Given the description of an element on the screen output the (x, y) to click on. 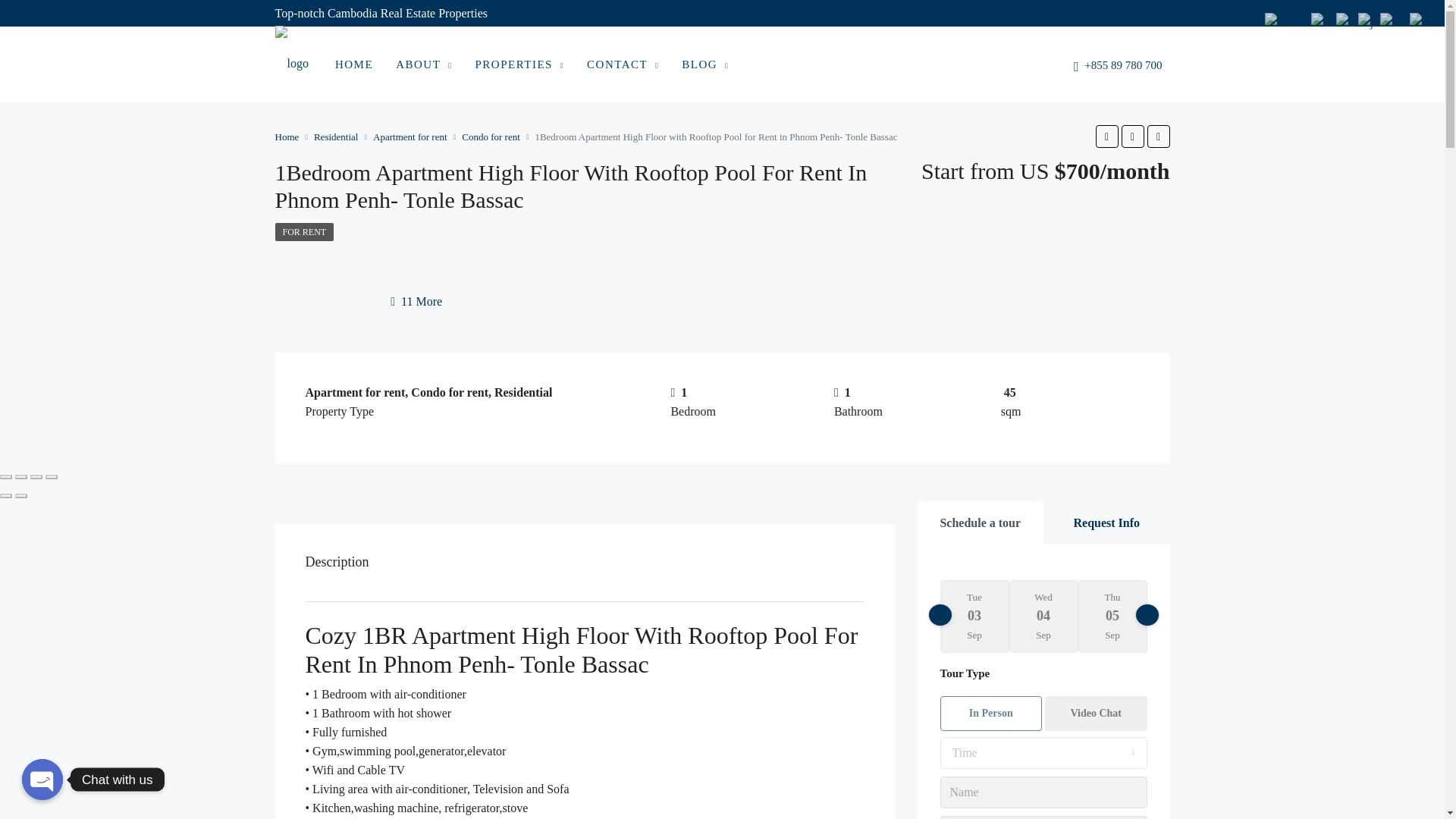
ABOUT (423, 65)
Toggle fullscreen (36, 477)
Share (20, 477)
PROPERTIES (519, 65)
